Given the description of an element on the screen output the (x, y) to click on. 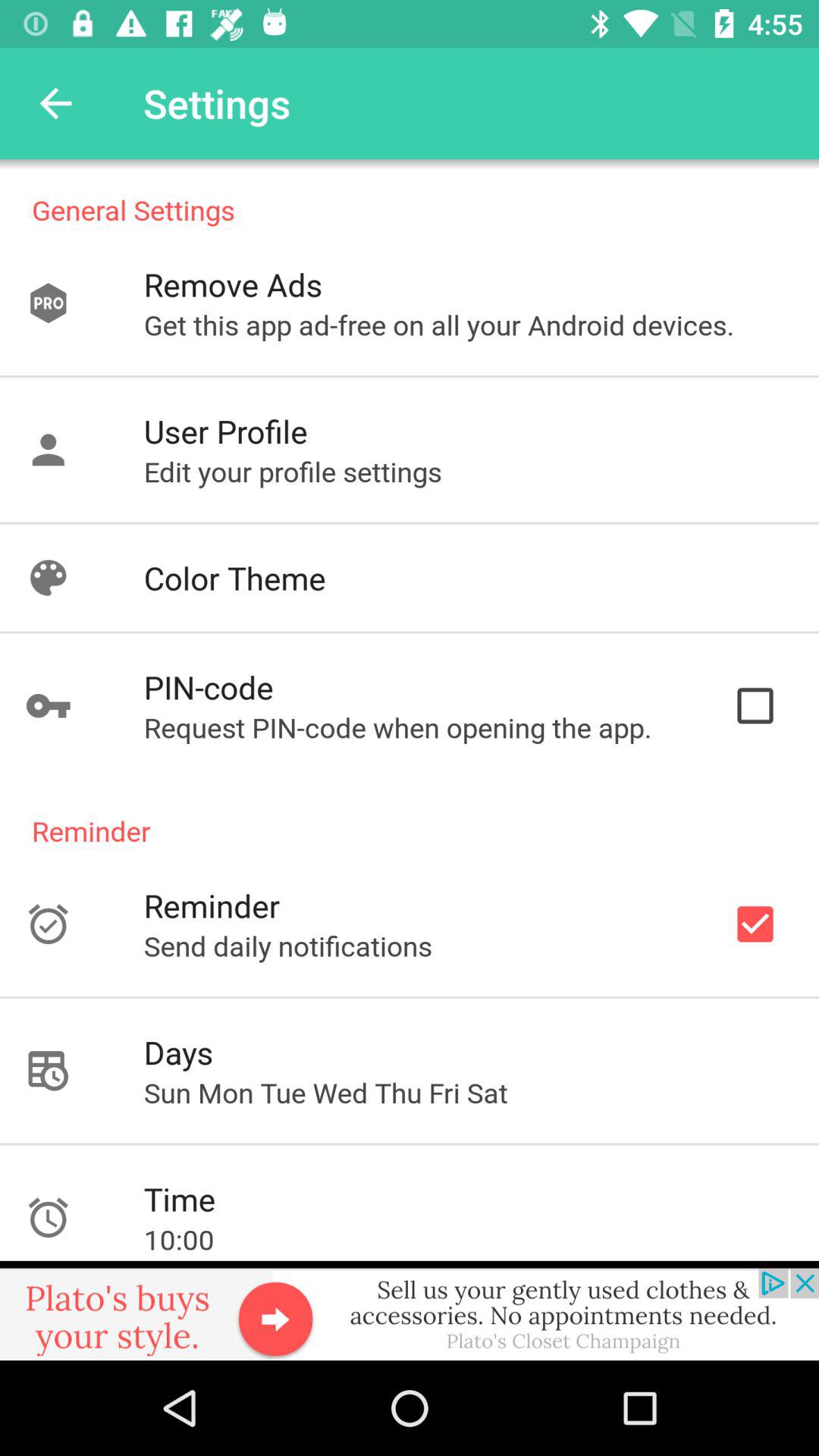
go to previous (55, 103)
